Given the description of an element on the screen output the (x, y) to click on. 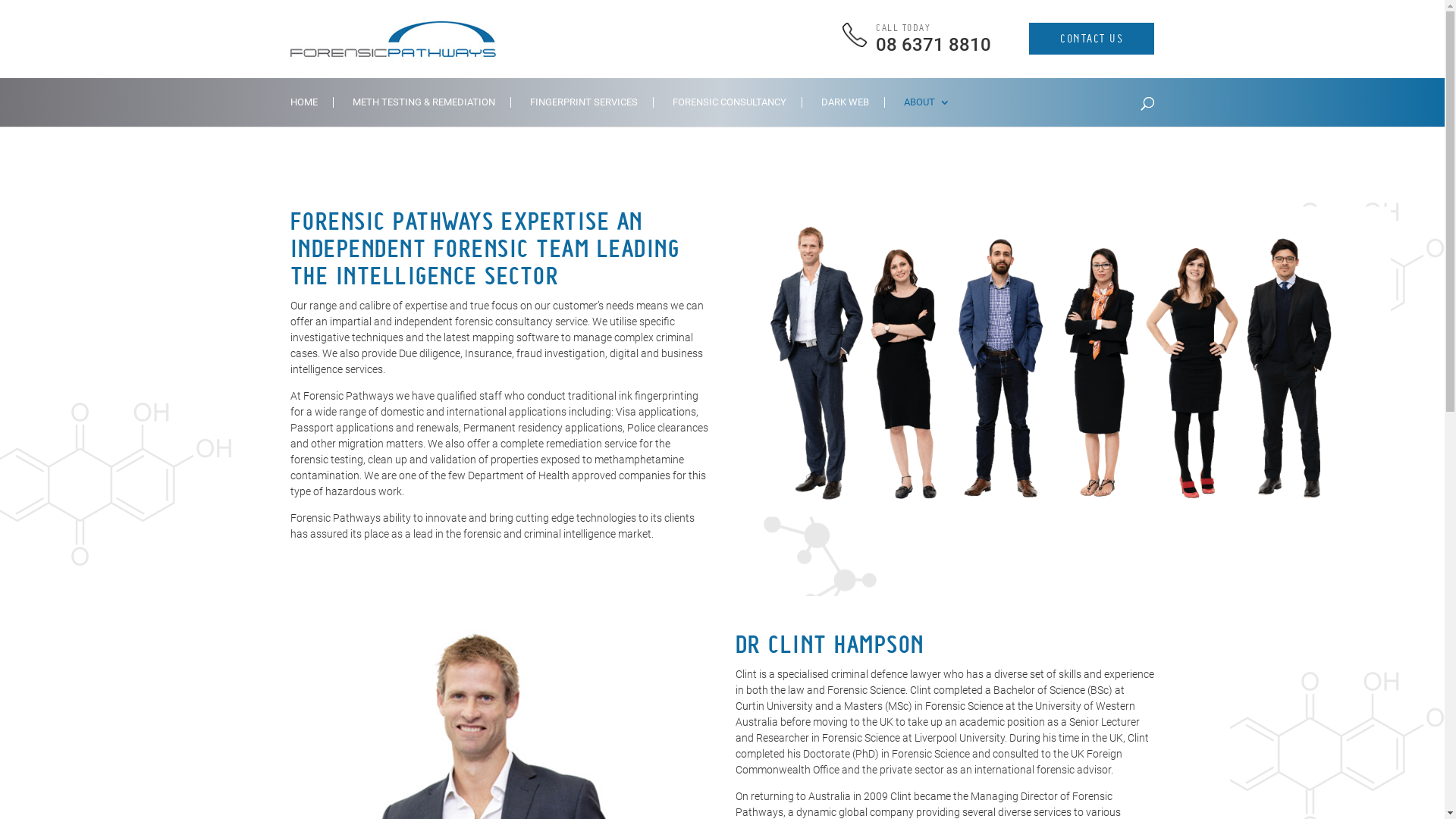
ABOUT Element type: text (926, 111)
FINGERPRINT SERVICES Element type: text (590, 111)
METH TESTING & REMEDIATION Element type: text (430, 111)
FORENSIC CONSULTANCY Element type: text (736, 111)
08 6371 8810 Element type: text (933, 44)
DARK WEB Element type: text (852, 111)
CONTACT US Element type: text (1091, 38)
HOME Element type: text (310, 111)
